Given the description of an element on the screen output the (x, y) to click on. 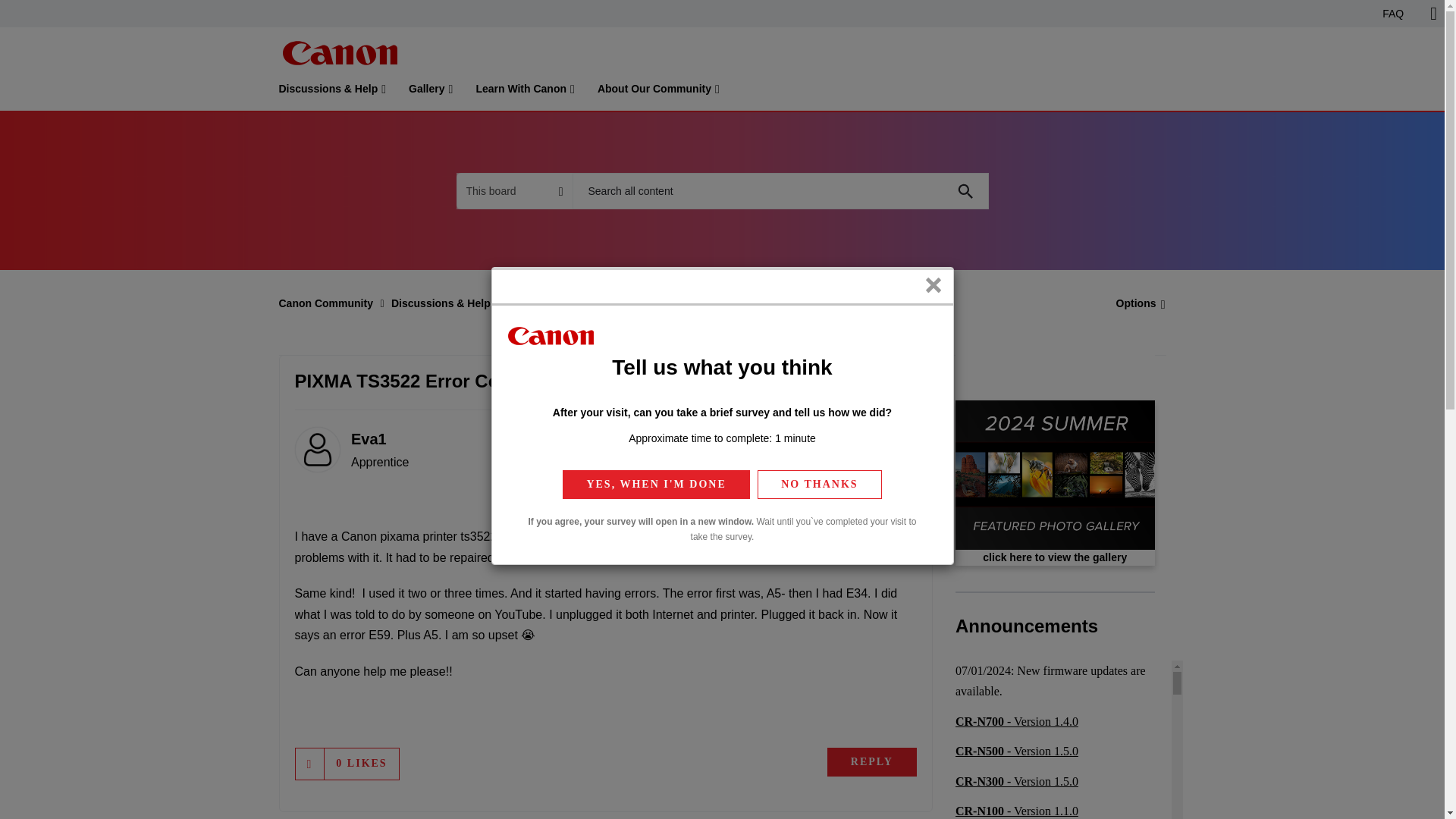
Search (964, 190)
The total number of likes this post has received. (360, 763)
Gallery (430, 91)
Eva1 (316, 449)
About Our Community (657, 91)
Show option menu (1136, 303)
Search (780, 190)
Learn With Canon (525, 91)
Moderator (866, 494)
Search Granularity (514, 190)
Canon Community (339, 53)
Search (964, 190)
Click here to give likes to this post. (309, 763)
FAQ (1393, 13)
Search (964, 190)
